Given the description of an element on the screen output the (x, y) to click on. 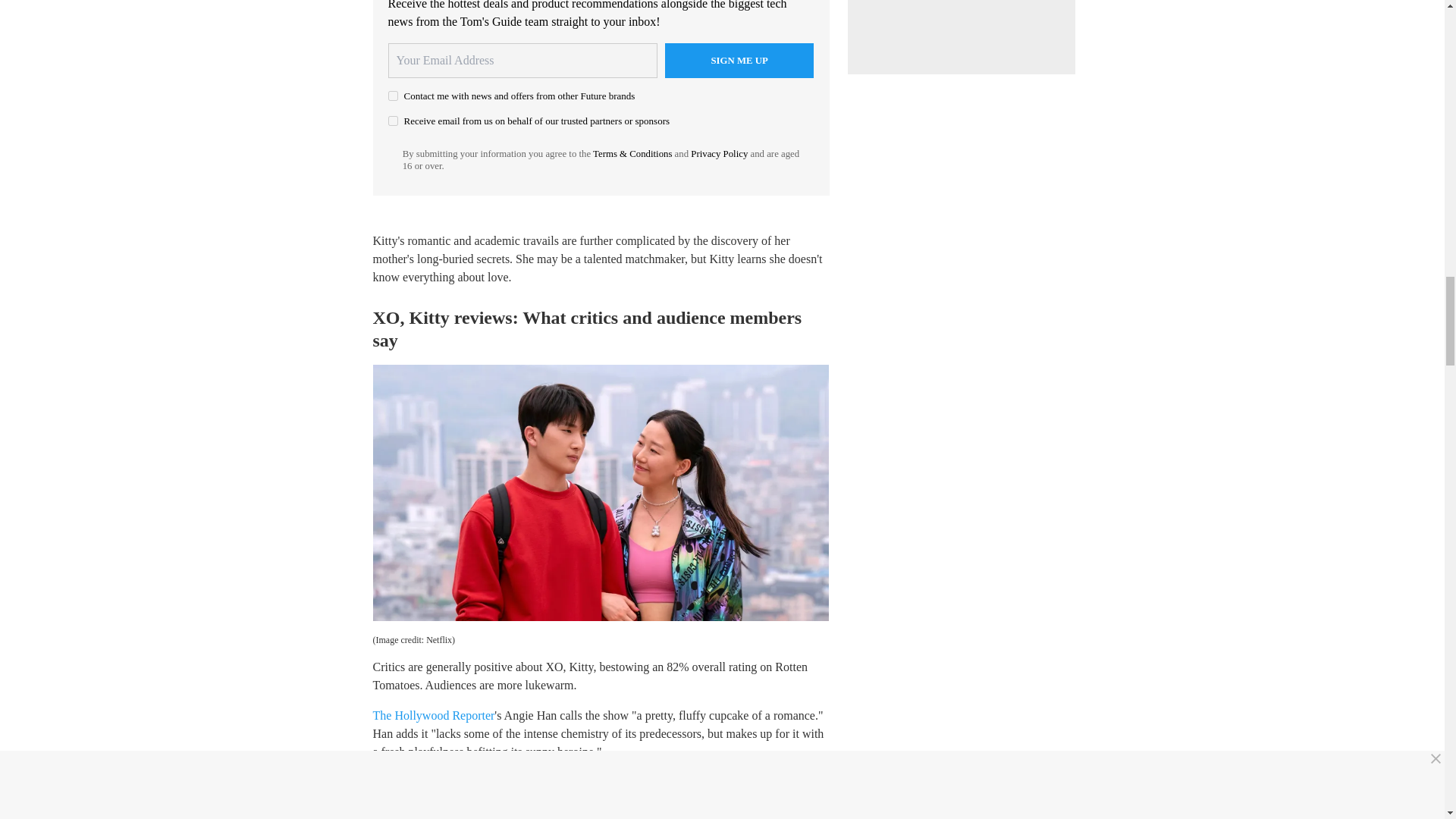
Sign me up (739, 60)
on (392, 121)
on (392, 95)
